Given the description of an element on the screen output the (x, y) to click on. 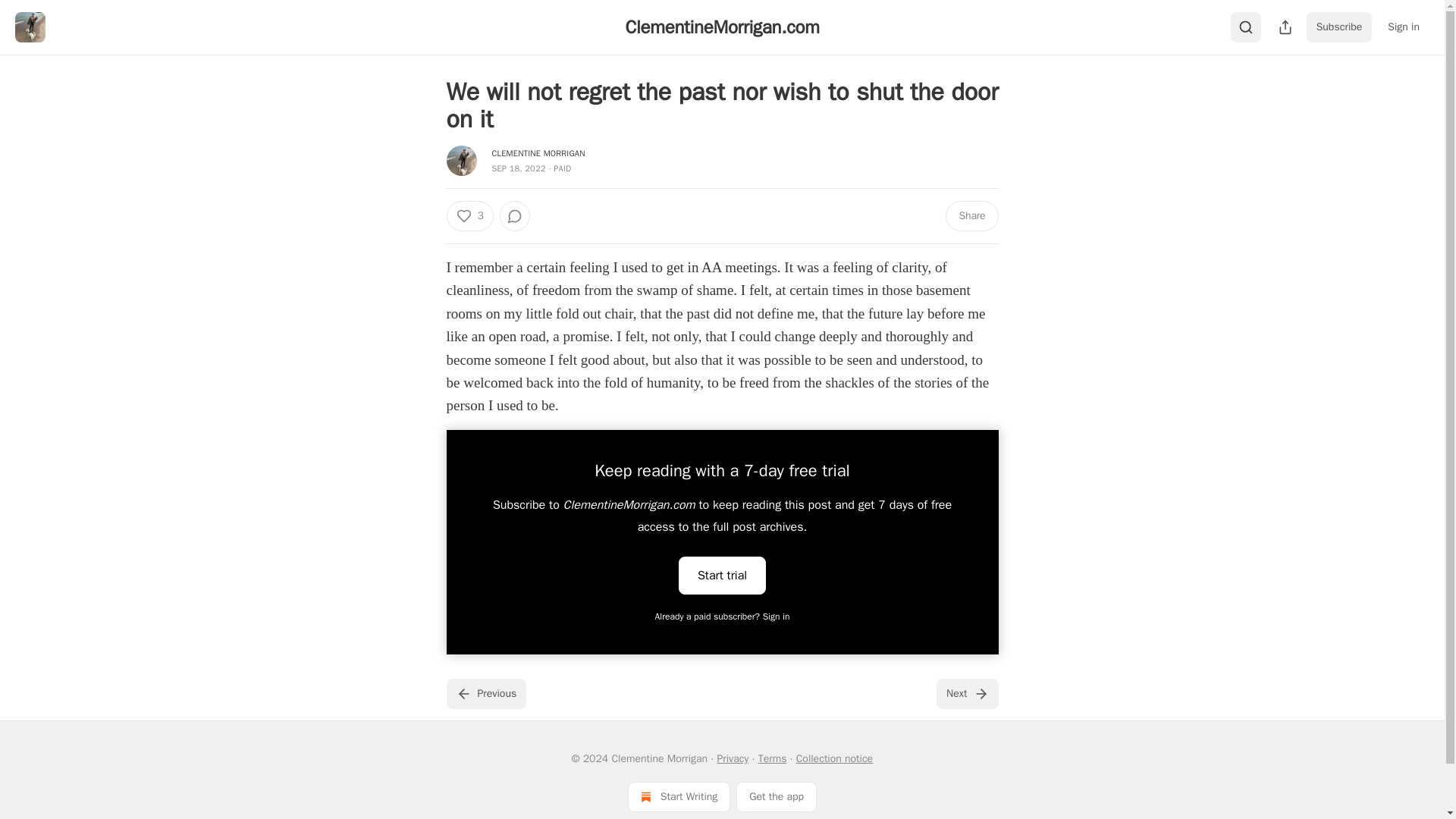
Collection notice (834, 758)
Share (970, 215)
Already a paid subscriber? Sign in (722, 616)
Start trial (721, 575)
Get the app (776, 797)
Start Writing (678, 797)
Terms (772, 758)
Next (966, 693)
3 (469, 215)
Subscribe (1339, 27)
Sign in (1403, 27)
CLEMENTINE MORRIGAN (538, 153)
Privacy (732, 758)
Start trial (721, 574)
Previous (485, 693)
